Given the description of an element on the screen output the (x, y) to click on. 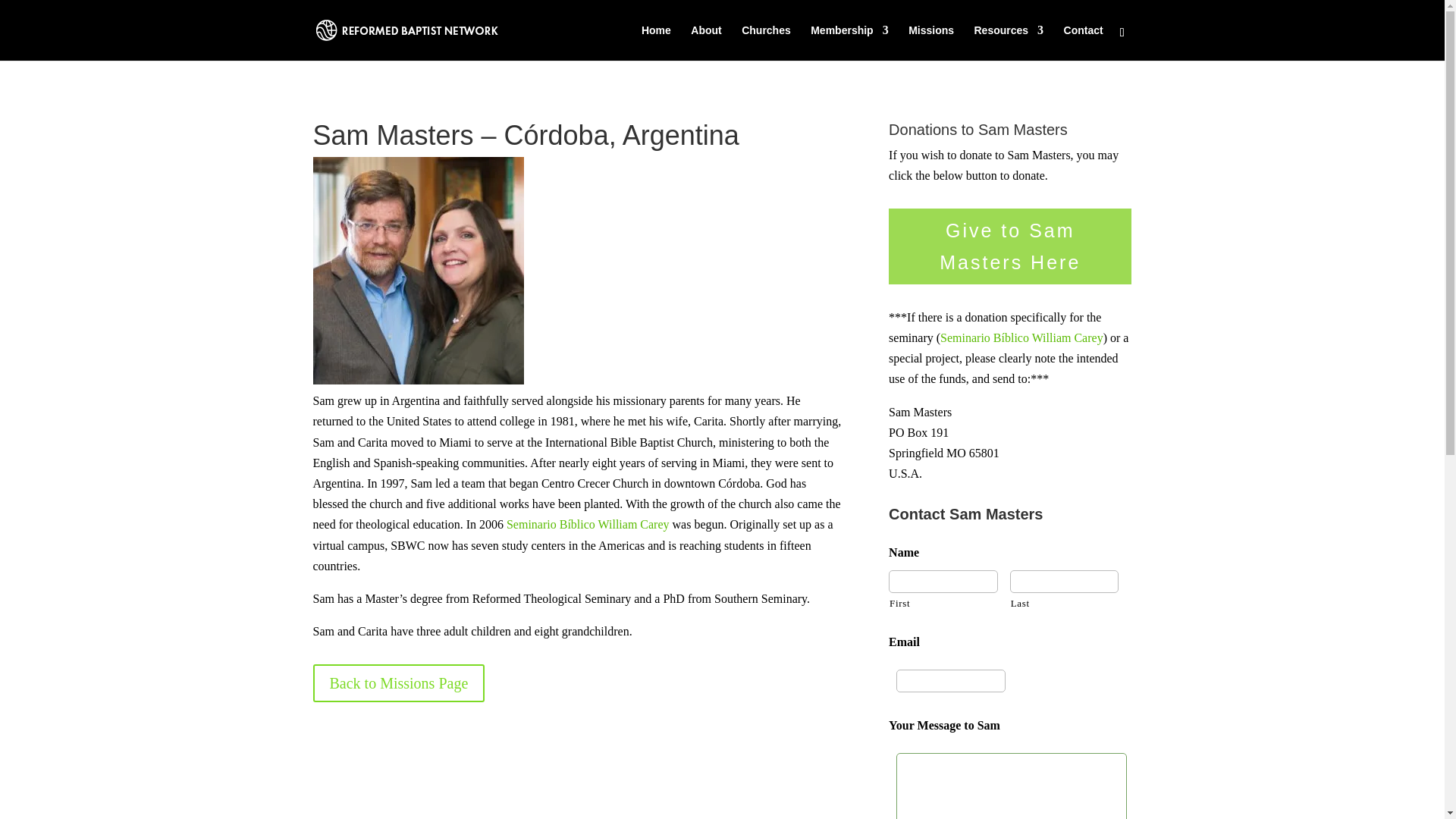
Give to Sam Masters Here (1009, 246)
Missions (930, 42)
Resources (1008, 42)
Churches (765, 42)
Back to Missions Page (398, 682)
About (705, 42)
Contact (1083, 42)
Home (656, 42)
Membership (849, 42)
